Given the description of an element on the screen output the (x, y) to click on. 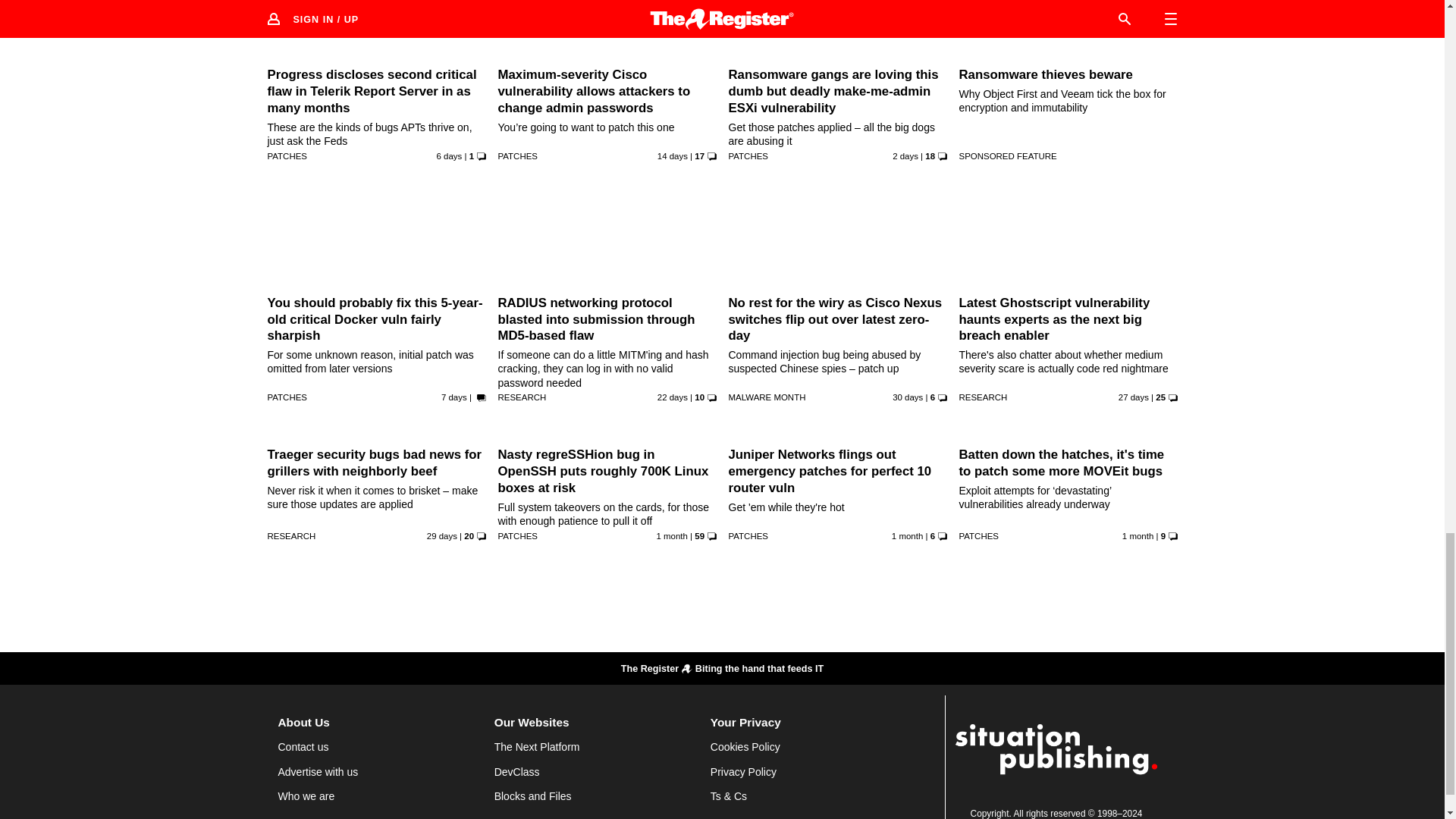
3 Jul 2024 16:24 (441, 535)
26 Jul 2024 13:32 (449, 155)
10 Jul 2024 3:15 (672, 397)
25 Jul 2024 13:46 (454, 397)
1 Jul 2024 14:1 (671, 535)
5 Jul 2024 12:34 (1133, 397)
30 Jul 2024 11:16 (905, 155)
2 Jul 2024 16:37 (907, 397)
18 Jul 2024 10:37 (672, 155)
View comments on this article (895, 0)
